Given the description of an element on the screen output the (x, y) to click on. 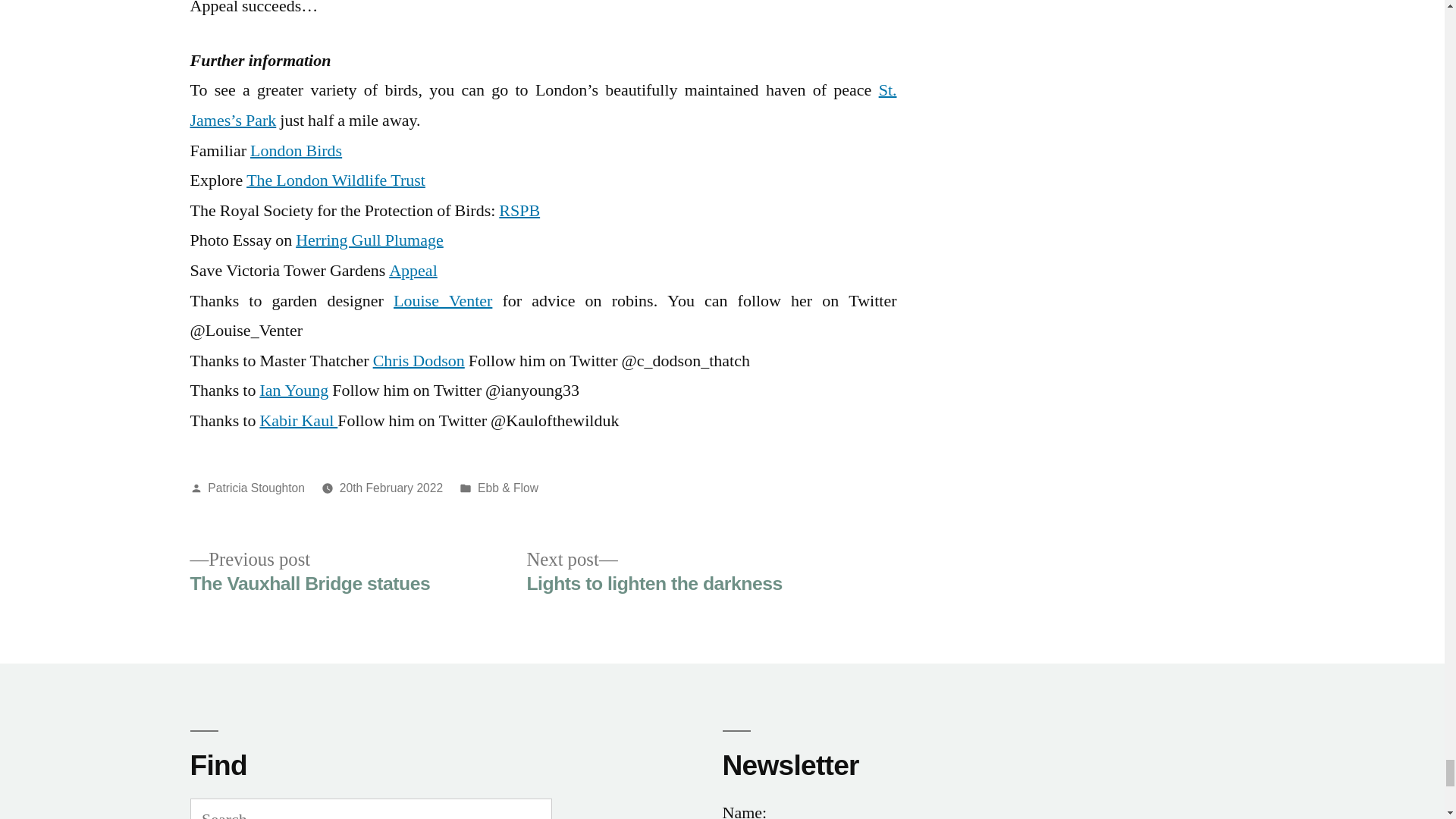
RSPB (519, 210)
Ian Young (294, 390)
The London Wildlife Trust (335, 179)
Appeal (653, 571)
Kabir Kaul (413, 270)
Louise Venter (298, 420)
Patricia Stoughton (442, 301)
London Birds (256, 487)
20th February 2022 (296, 150)
Herring Gull Plumage (390, 487)
Chris Dodson (369, 240)
